Given the description of an element on the screen output the (x, y) to click on. 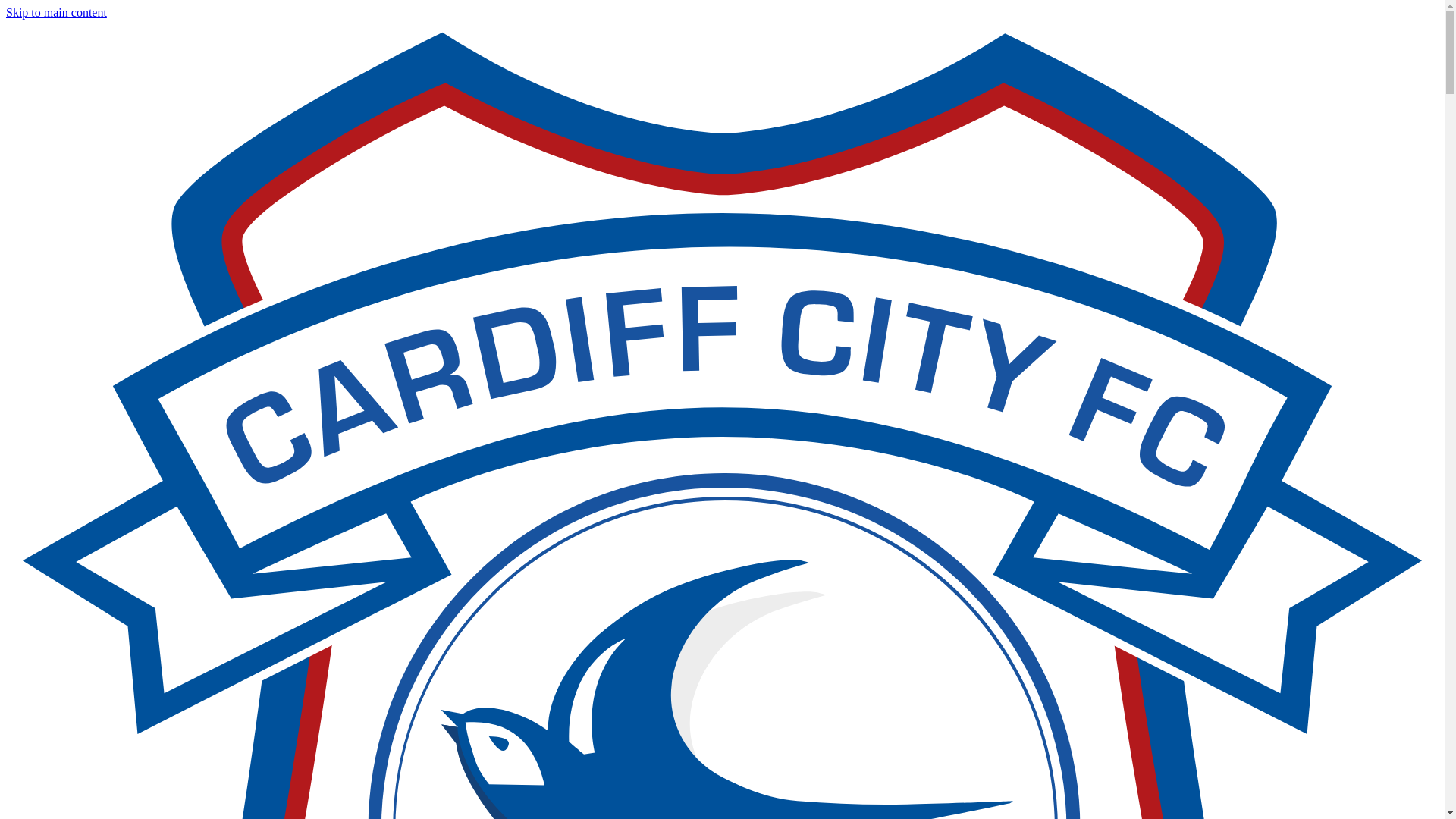
Skip to main content (55, 11)
